Given the description of an element on the screen output the (x, y) to click on. 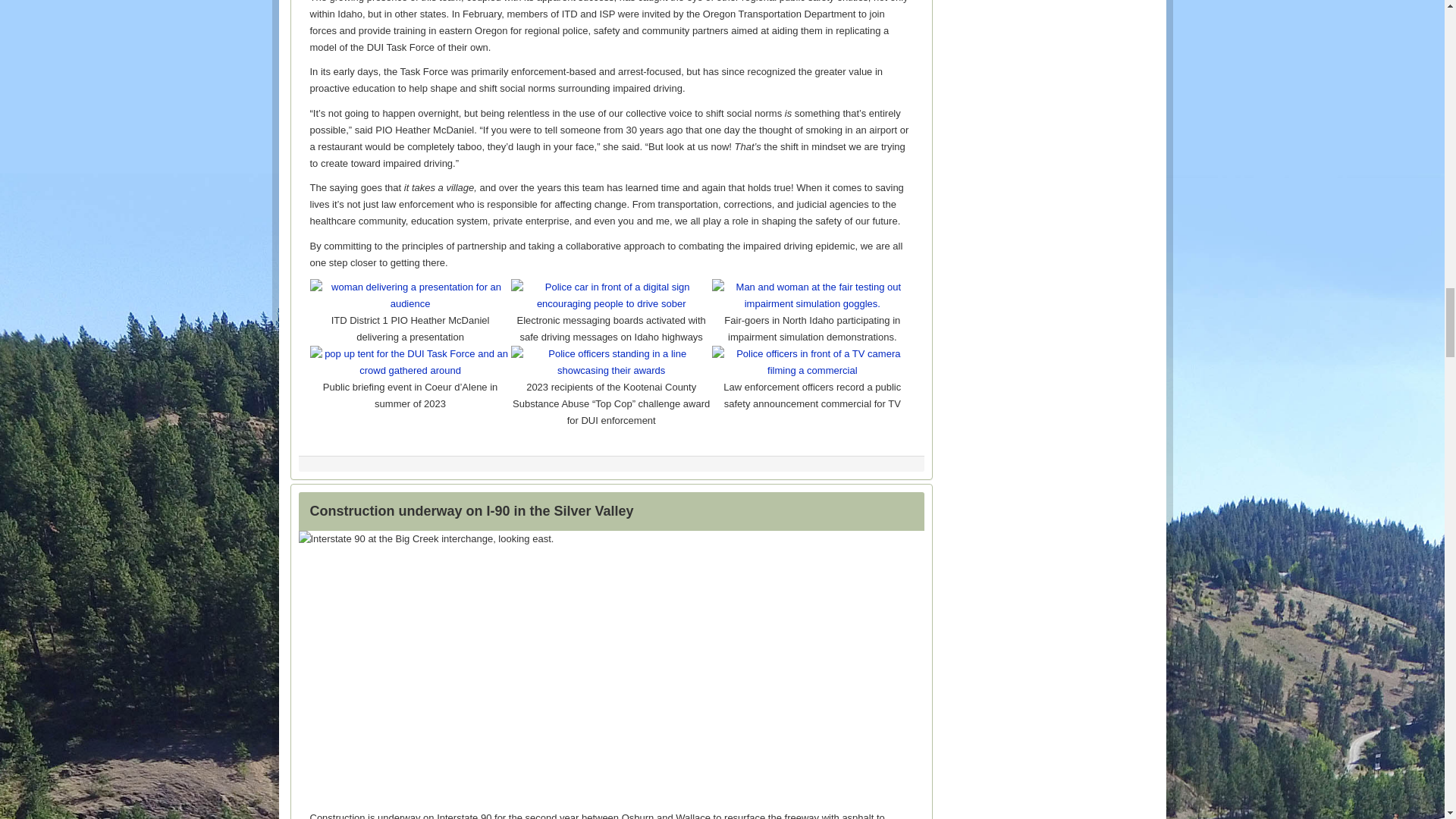
Construction underway on I-90 in the Silver Valley (470, 510)
